Given the description of an element on the screen output the (x, y) to click on. 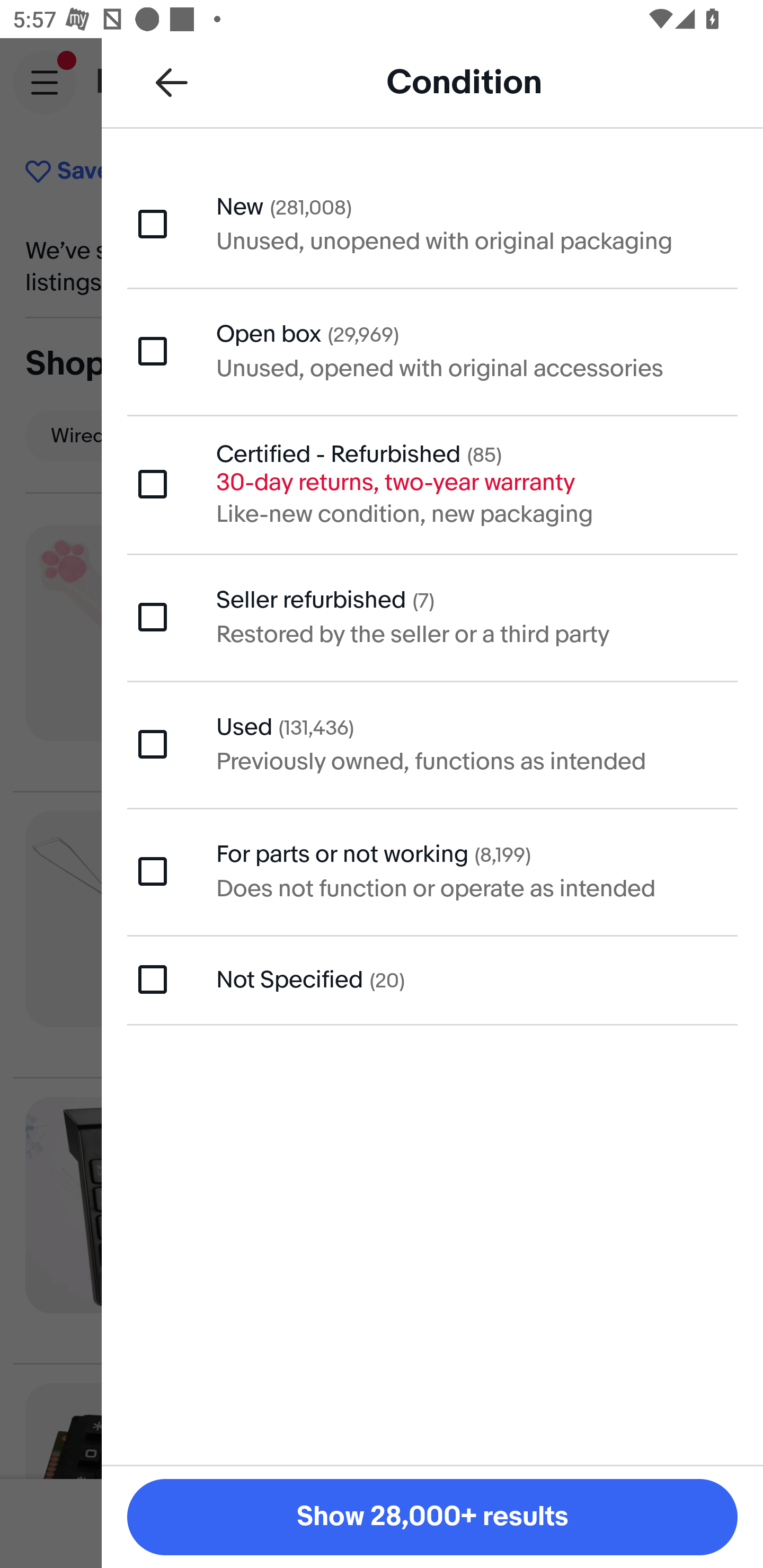
Back to all refinements (171, 81)
Not Specified (20) (432, 978)
Show 28,000+ results (432, 1516)
